Given the description of an element on the screen output the (x, y) to click on. 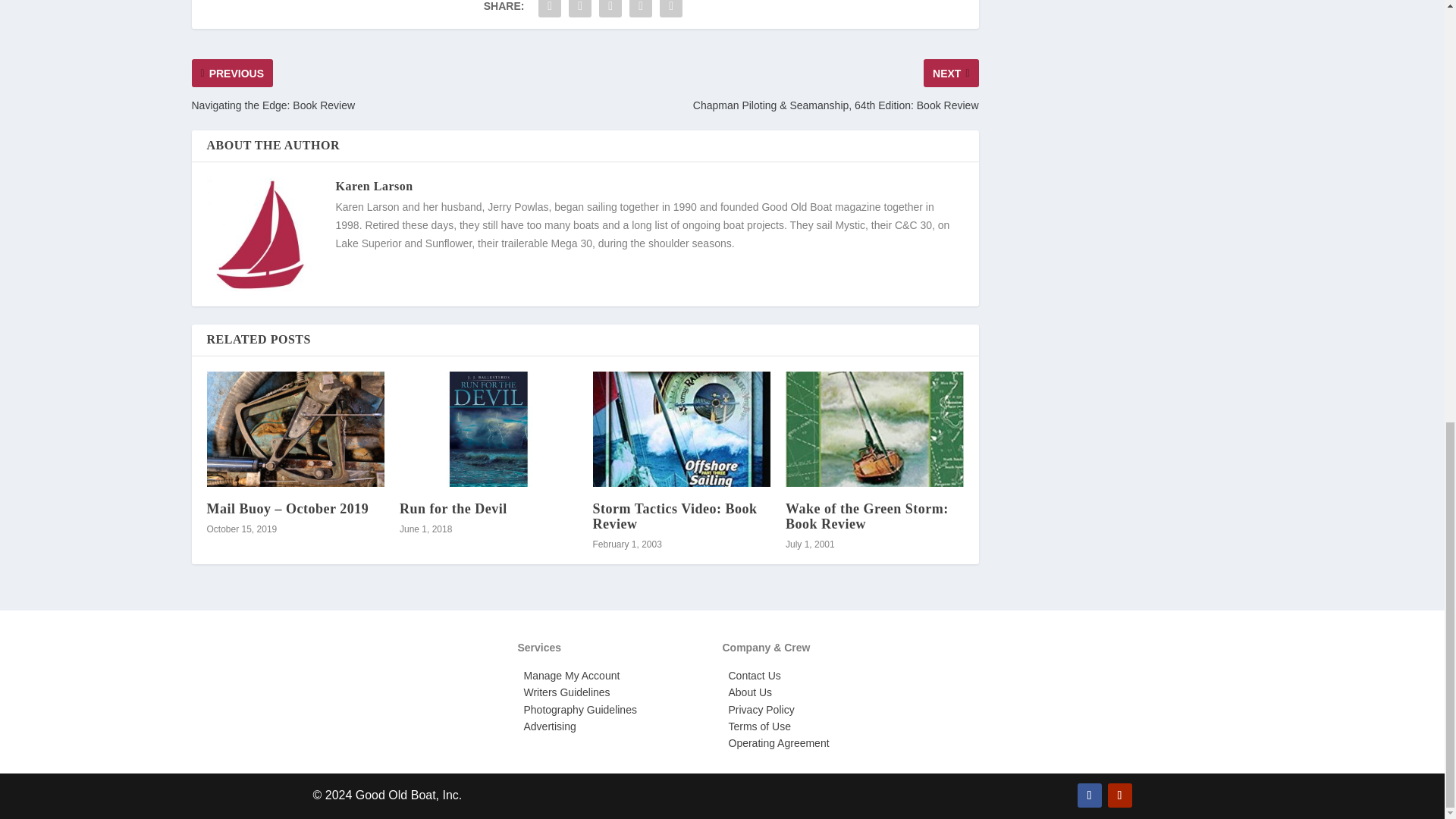
Storm Tactics Video: Book Review (681, 428)
Share "Call of the Ancient Mariner: Book Review" via Print (670, 10)
Share "Call of the Ancient Mariner: Book Review" via Twitter (579, 10)
Run for the Devil (488, 428)
View all posts by Karen Larson (373, 185)
Wake of the Green Storm: Book Review (874, 428)
Follow on Facebook (1088, 794)
Share "Call of the Ancient Mariner: Book Review" via Email (641, 10)
